Given the description of an element on the screen output the (x, y) to click on. 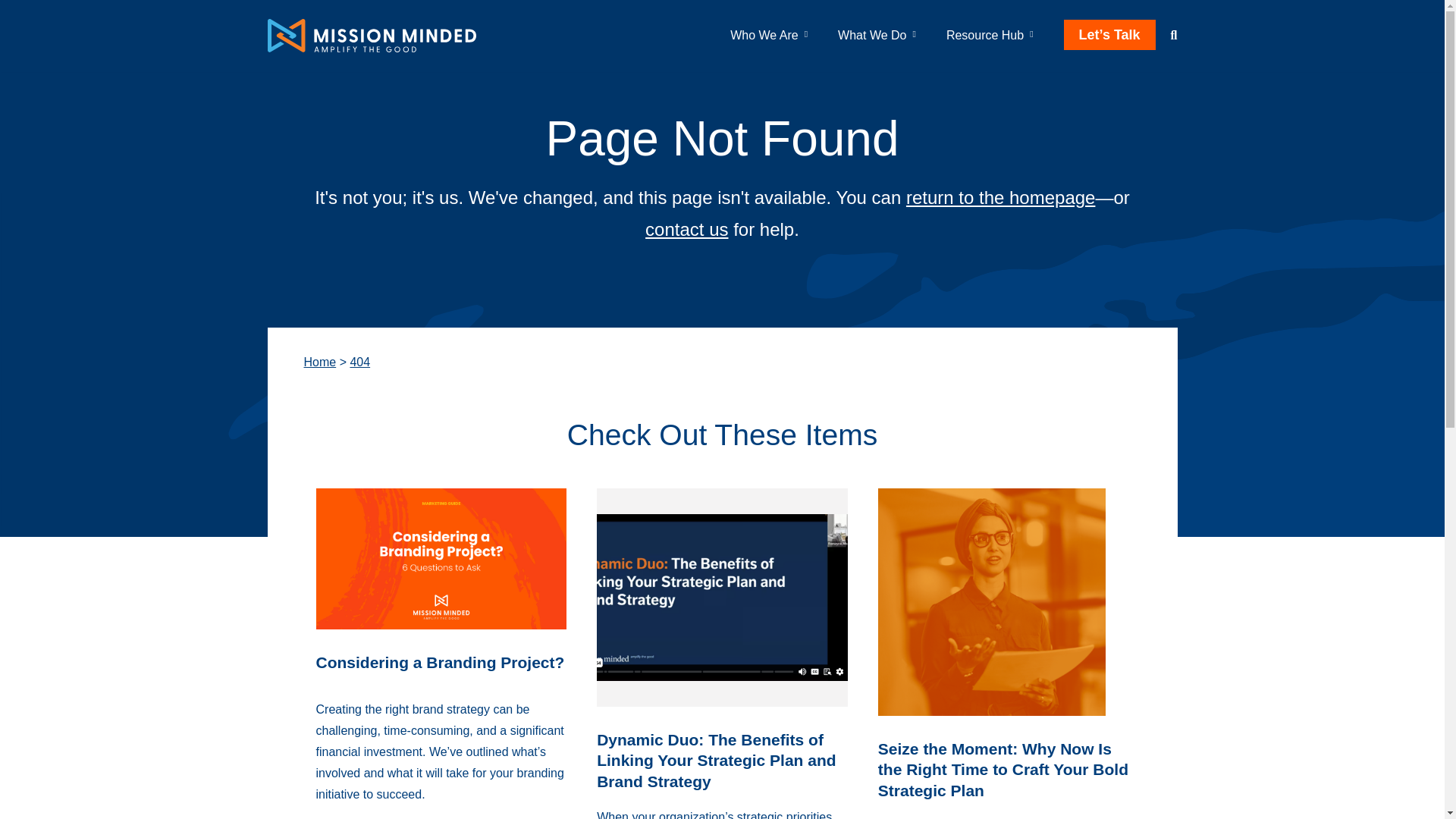
What We Do (871, 34)
Go to Mission Minded. (319, 361)
Who We Are (763, 34)
contact us (686, 229)
Home (319, 361)
Go to 404. (359, 361)
Resource Hub (984, 34)
404 (359, 361)
return to the homepage (1000, 197)
Considering a Branding Project? (439, 661)
